Given the description of an element on the screen output the (x, y) to click on. 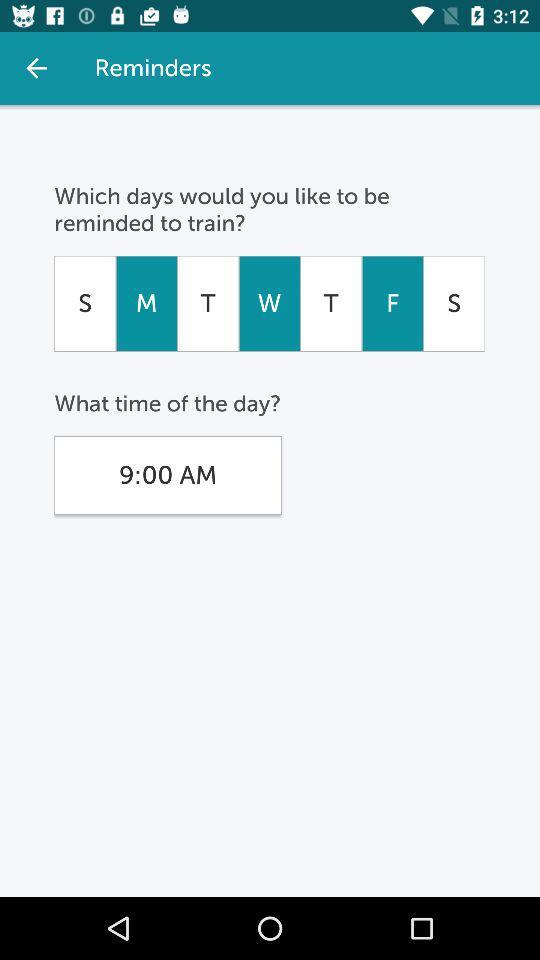
tap item next to reminders (36, 68)
